Given the description of an element on the screen output the (x, y) to click on. 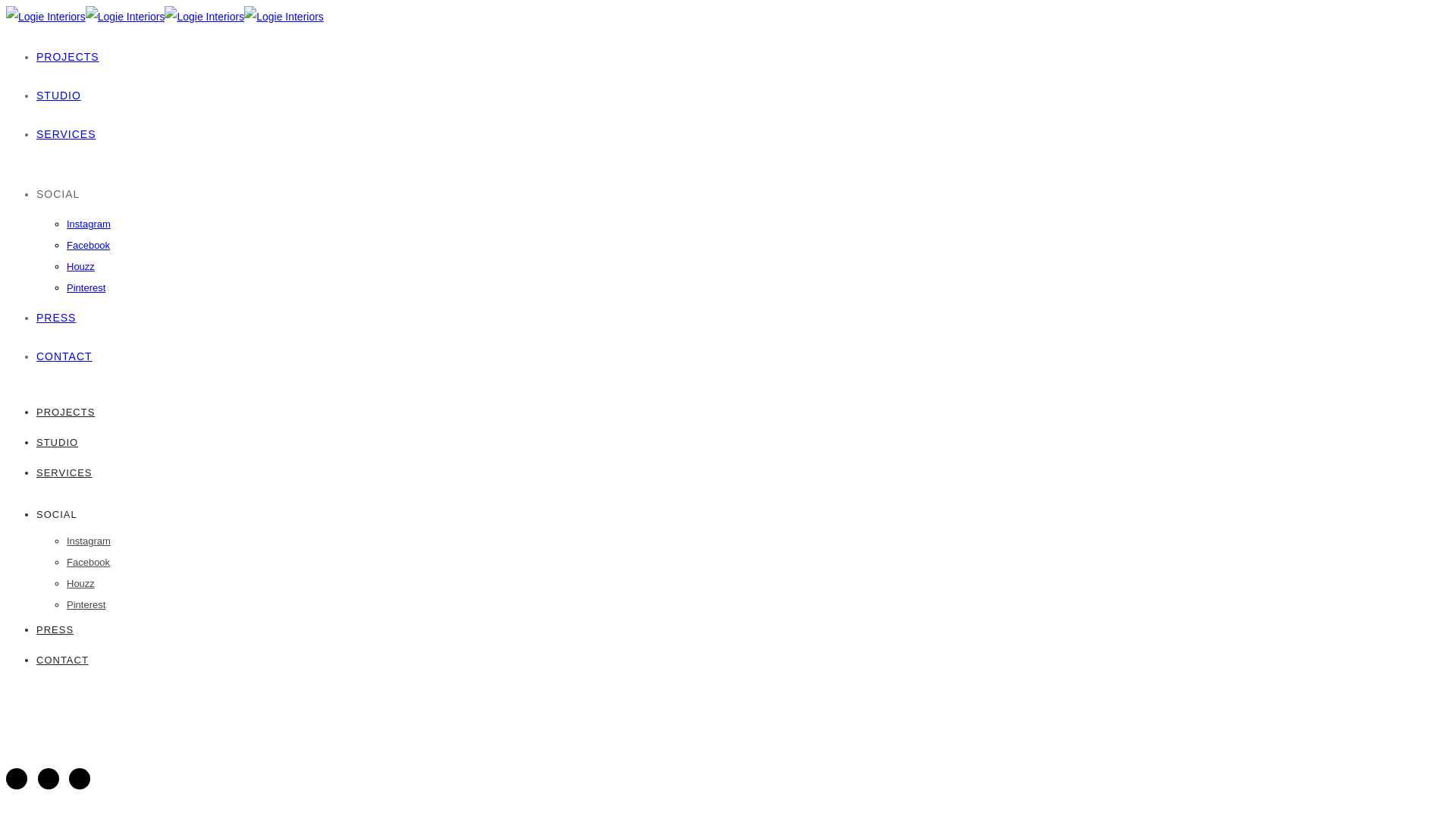
STUDIO Element type: text (57, 442)
CONTACT Element type: text (62, 659)
SOCIAL Element type: text (56, 514)
STUDIO Element type: text (58, 95)
Pinterest Element type: text (85, 287)
CONTACT Element type: text (64, 356)
PROJECTS Element type: text (65, 411)
SOCIAL Element type: text (57, 194)
Houzz Element type: text (80, 583)
Pinterest Element type: text (85, 604)
PRESS Element type: text (55, 317)
SERVICES Element type: text (64, 472)
PRESS Element type: text (54, 629)
Instagram Element type: text (88, 223)
Facebook Element type: text (87, 245)
PROJECTS Element type: text (67, 56)
Instagram Element type: text (88, 540)
Facebook Element type: text (87, 561)
Houzz Element type: text (80, 266)
SERVICES Element type: text (66, 134)
